Given the description of an element on the screen output the (x, y) to click on. 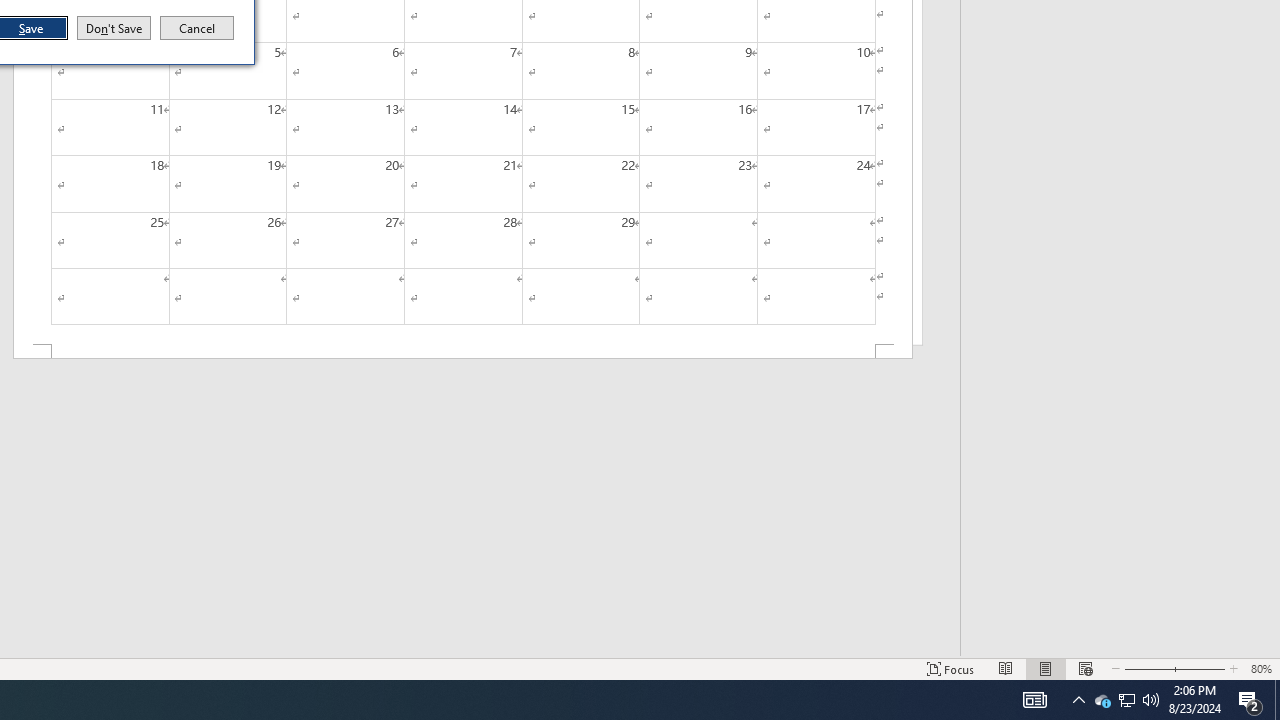
Action Center, 2 new notifications (1250, 699)
Footer -Section 2- (1102, 699)
AutomationID: 4105 (462, 351)
